Given the description of an element on the screen output the (x, y) to click on. 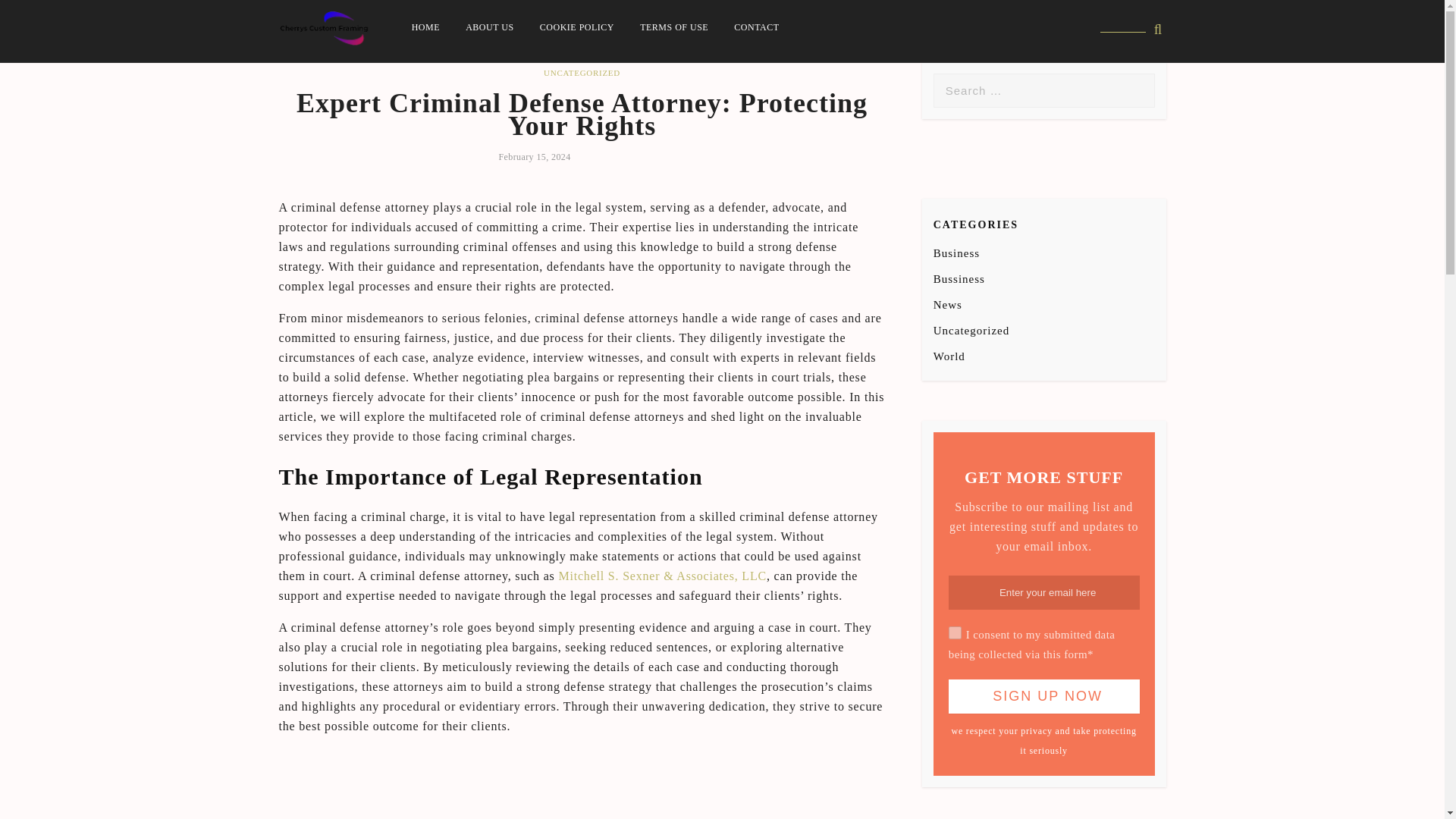
Sign Up Now (1044, 696)
UNCATEGORIZED (581, 71)
Bussiness (959, 278)
Search (37, 13)
Business (956, 253)
CONTACT (756, 27)
Cherrys Custom Framing (437, 64)
COOKIE POLICY (577, 27)
News (947, 304)
TERMS OF USE (673, 27)
